Given the description of an element on the screen output the (x, y) to click on. 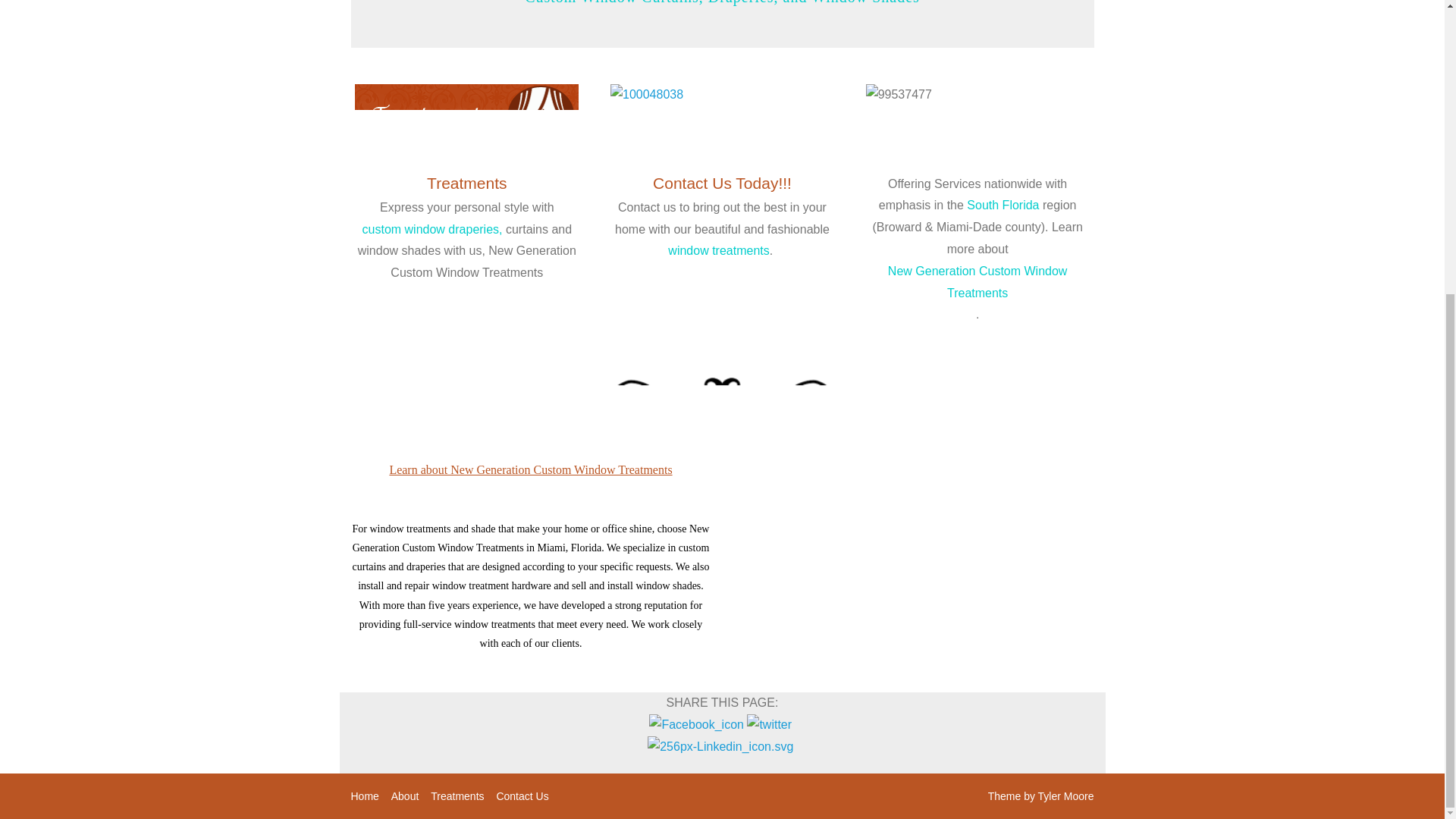
custom window draperies (430, 228)
Contact Us (522, 796)
About (405, 796)
South Florida (1002, 205)
Home (364, 796)
New Generation Custom Window Treatments (977, 281)
Tyler Moore (1066, 796)
window treatments (718, 250)
Treatments (456, 796)
